Given the description of an element on the screen output the (x, y) to click on. 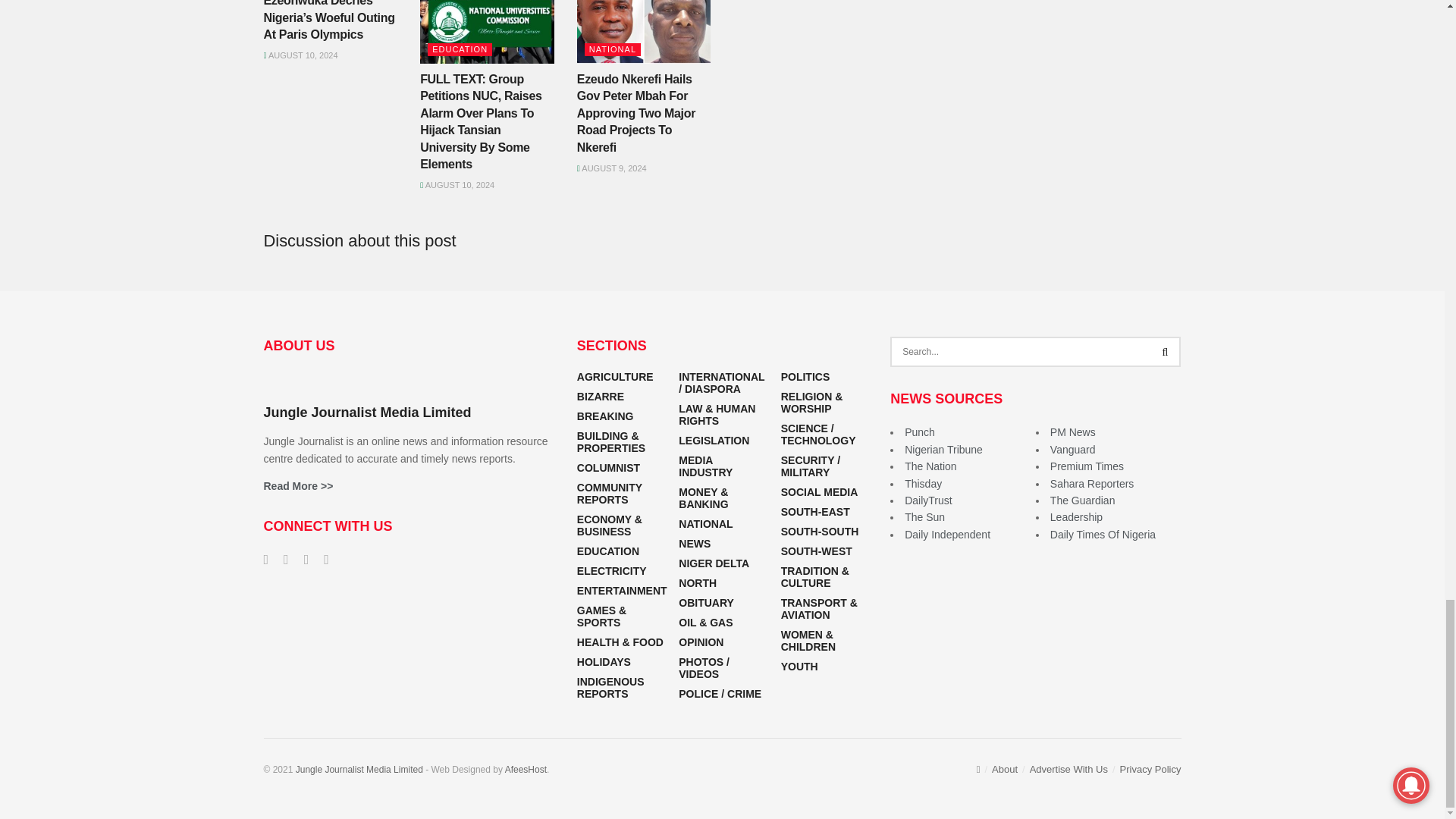
Jungle Journalist Media Limited (359, 769)
Web Hosting (526, 769)
About Jungle Journalist Media Limited (298, 485)
